Given the description of an element on the screen output the (x, y) to click on. 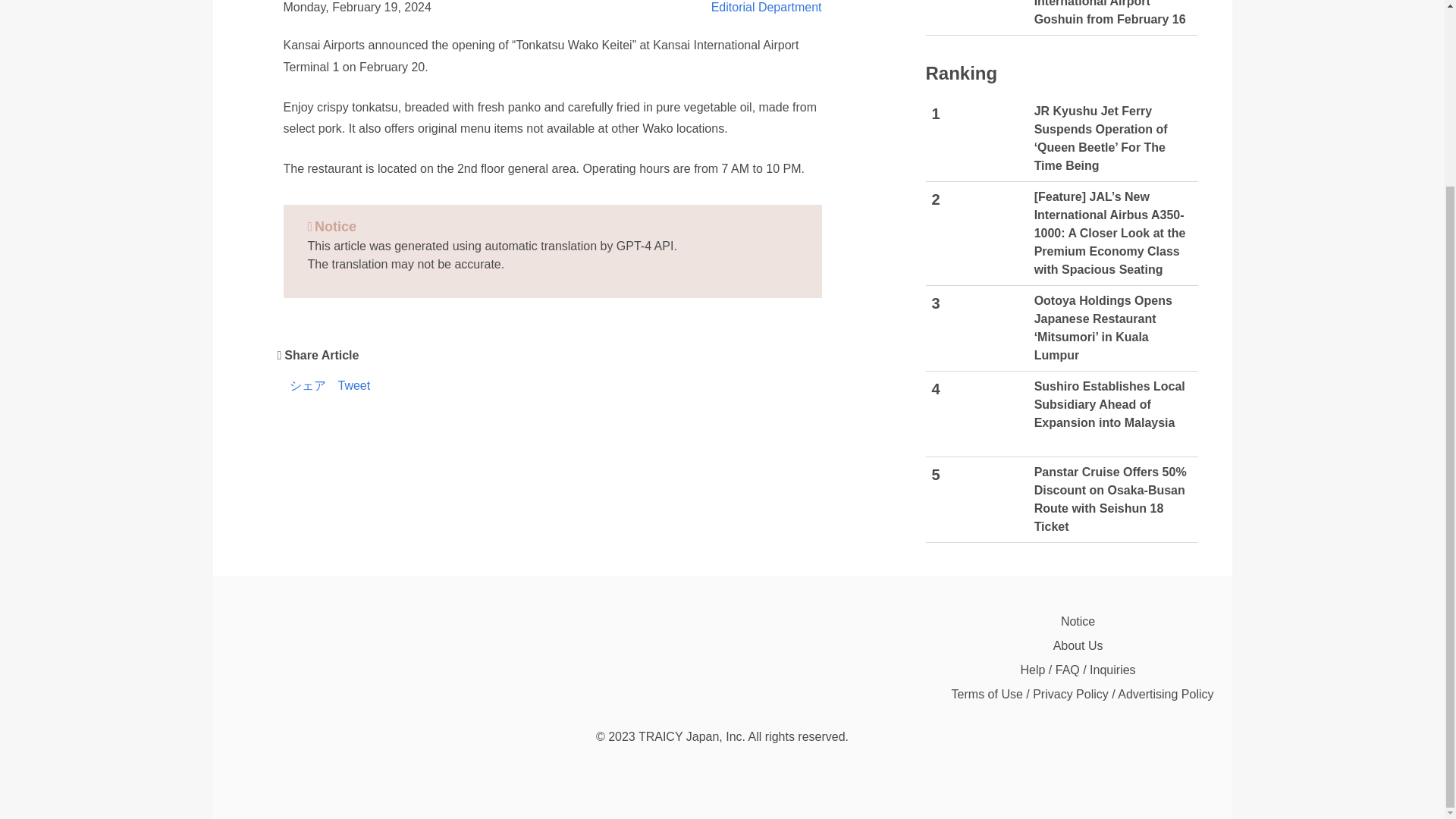
Editorial Department (766, 6)
Posts by Editorial Department (766, 6)
Tweet (354, 387)
